Given the description of an element on the screen output the (x, y) to click on. 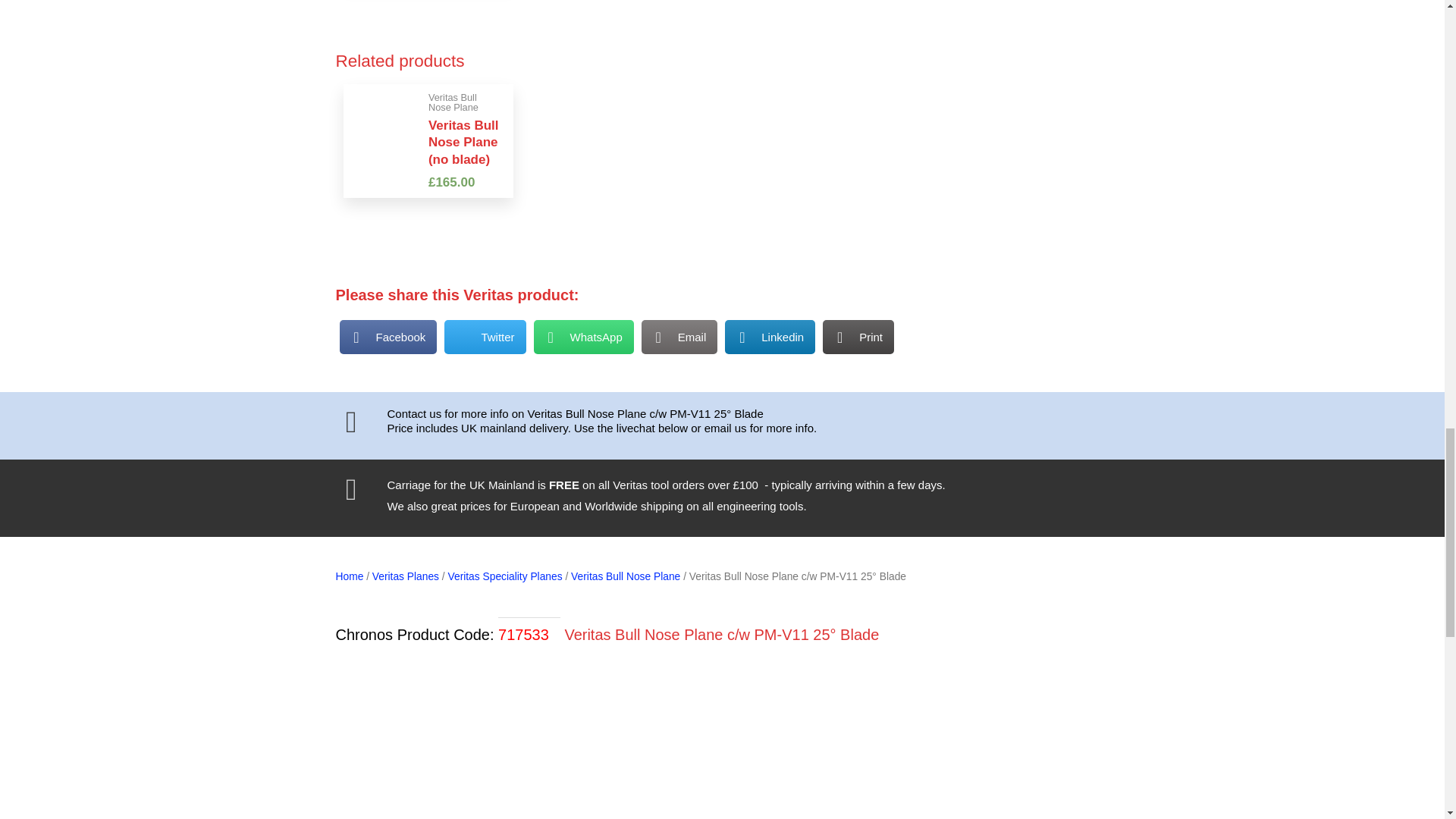
2021 (721, 752)
